Given the description of an element on the screen output the (x, y) to click on. 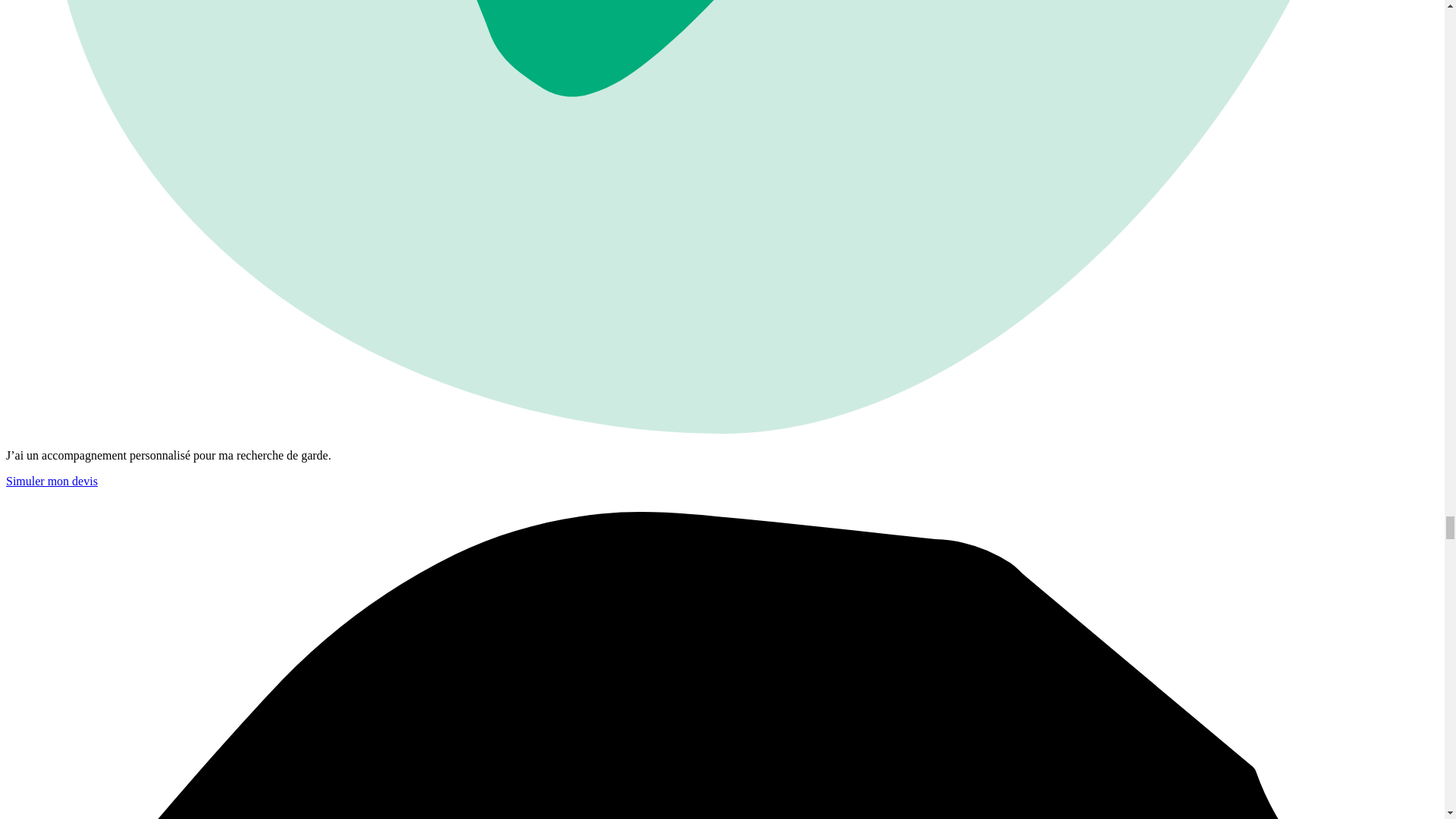
Simuler mon devis (51, 481)
